Given the description of an element on the screen output the (x, y) to click on. 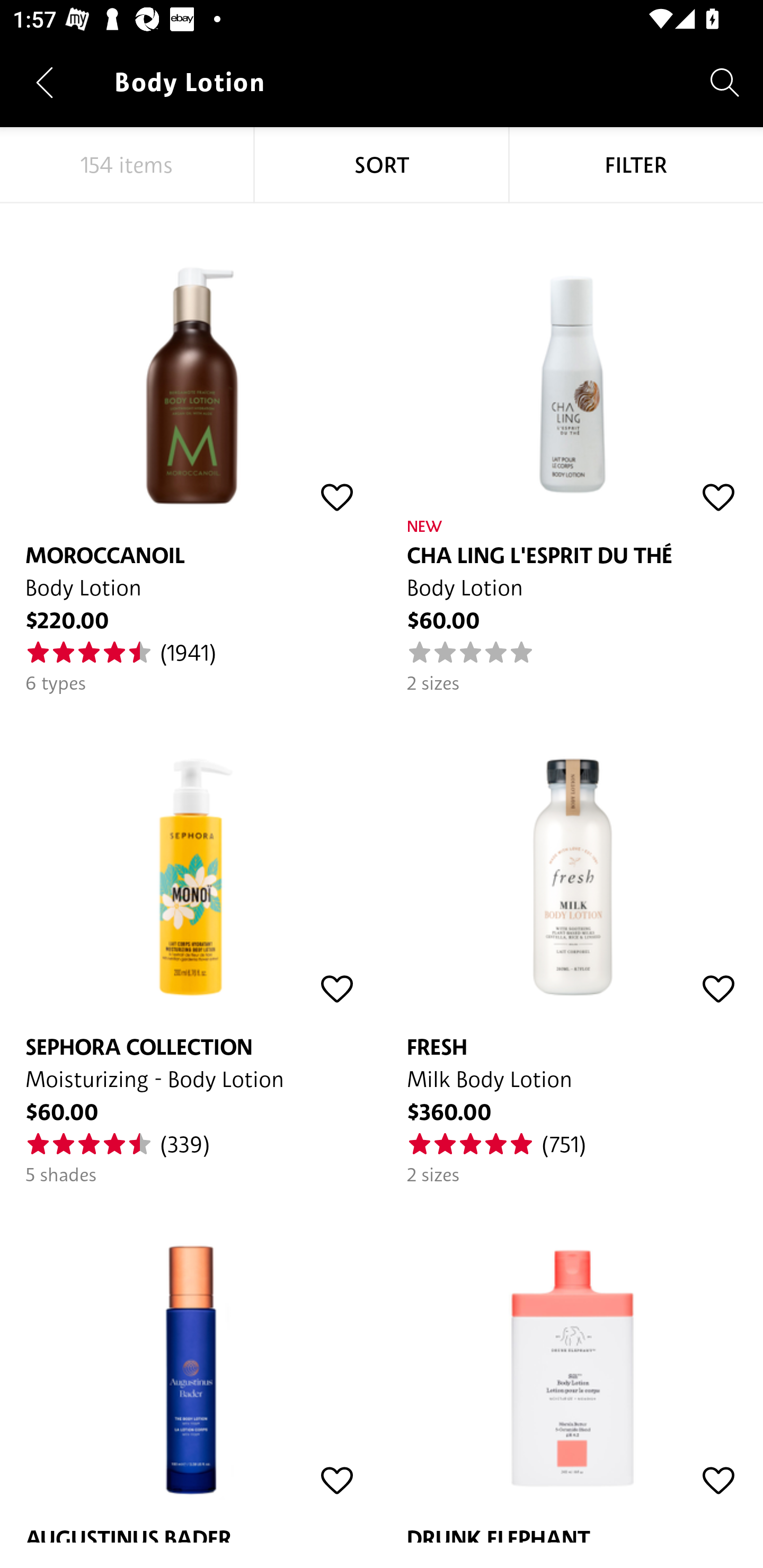
Navigate up (44, 82)
Search (724, 81)
SORT (381, 165)
FILTER (636, 165)
MOROCCANOIL Body Lotion $220.00 (1941) 6 types (190, 448)
FRESH Milk Body Lotion $360.00 (751) 2 sizes (571, 940)
AUGUSTINUS BADER The Body Lotion (190, 1364)
DRUNK ELEPHANT Sili™ Body Lotion (571, 1364)
